Given the description of an element on the screen output the (x, y) to click on. 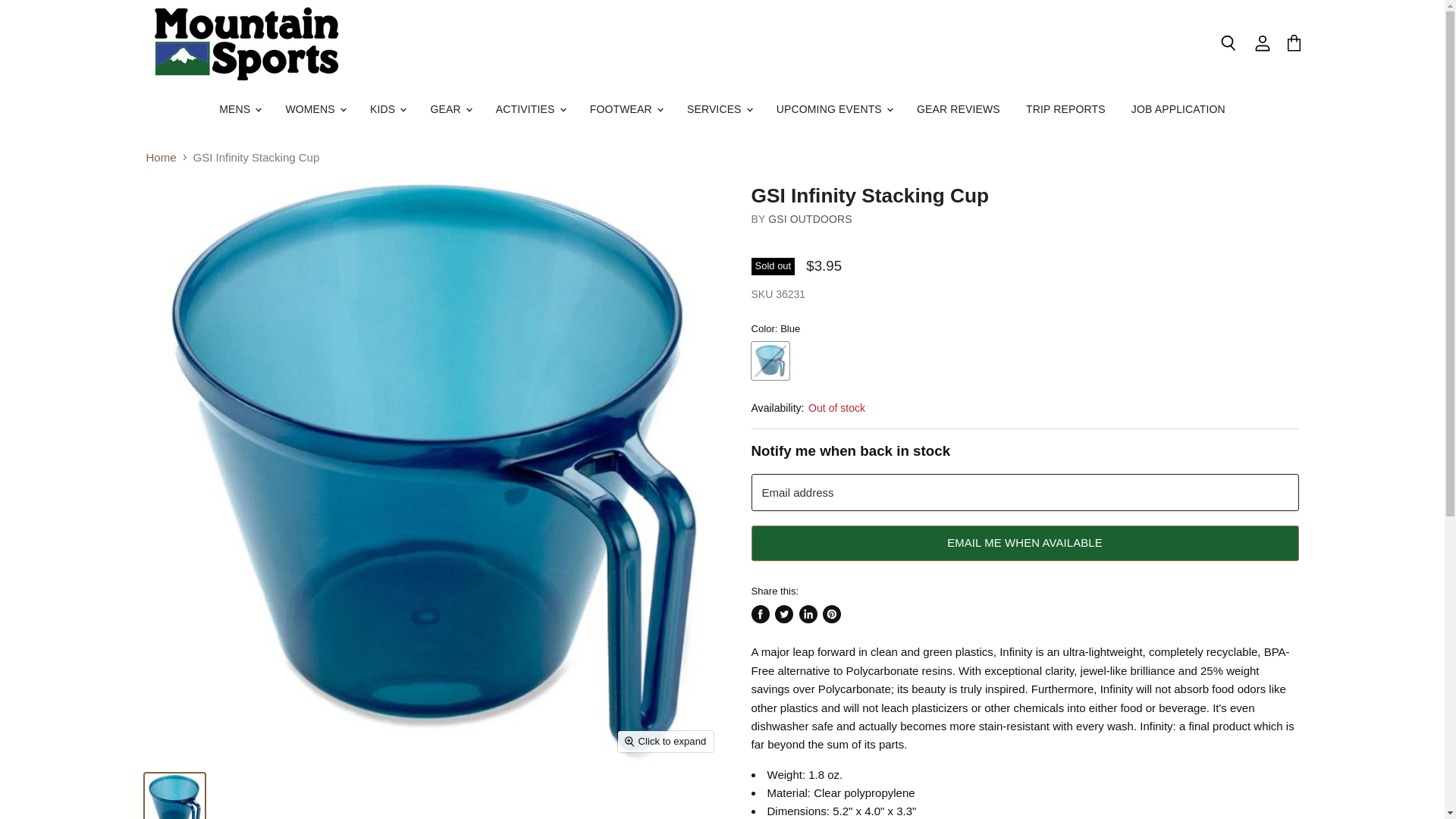
MENS (239, 109)
View account (1262, 43)
Search (1227, 43)
GSI Outdoors (809, 218)
